Given the description of an element on the screen output the (x, y) to click on. 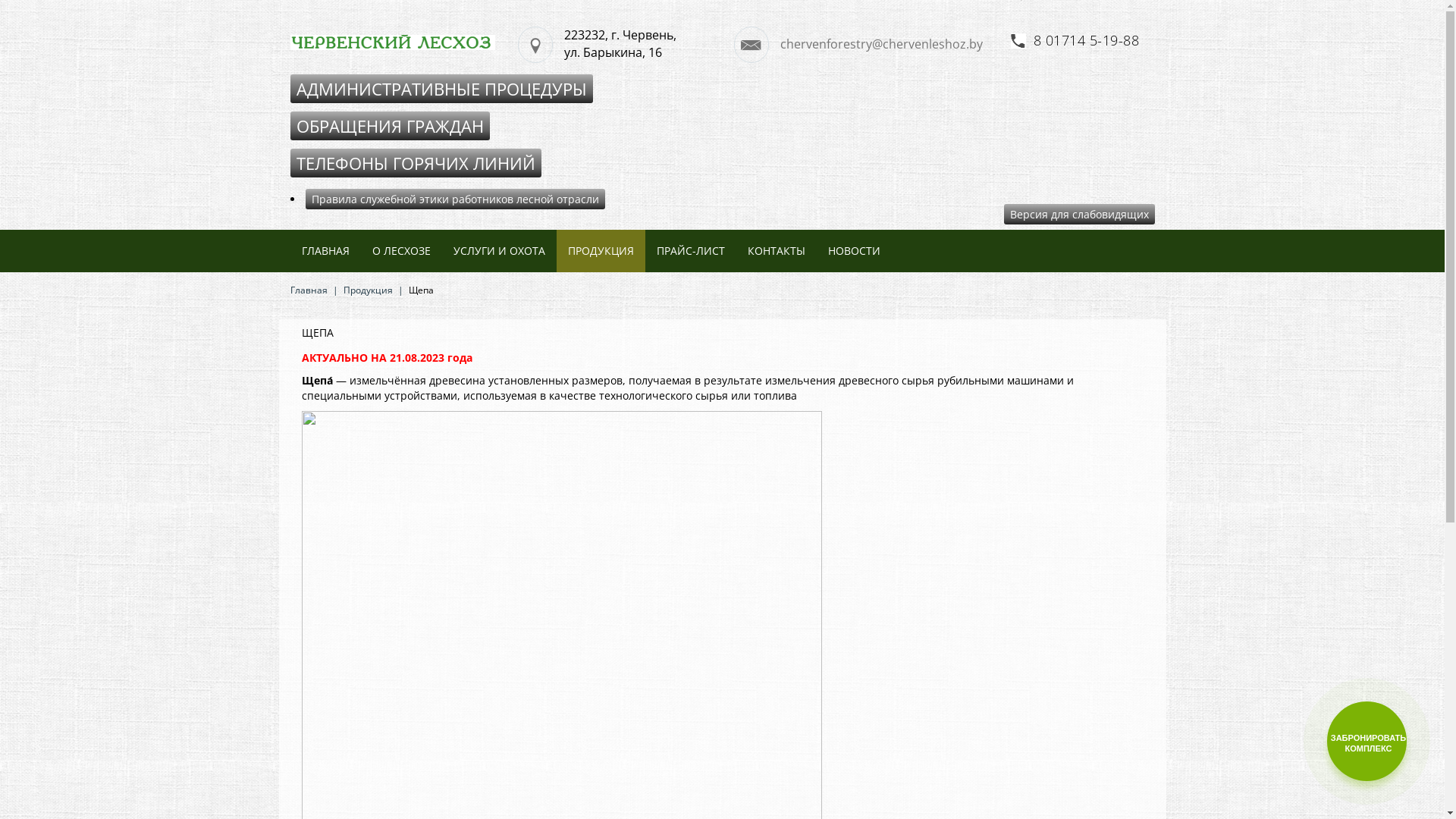
chervenforestry@chervenleshoz.by Element type: text (865, 44)
